Given the description of an element on the screen output the (x, y) to click on. 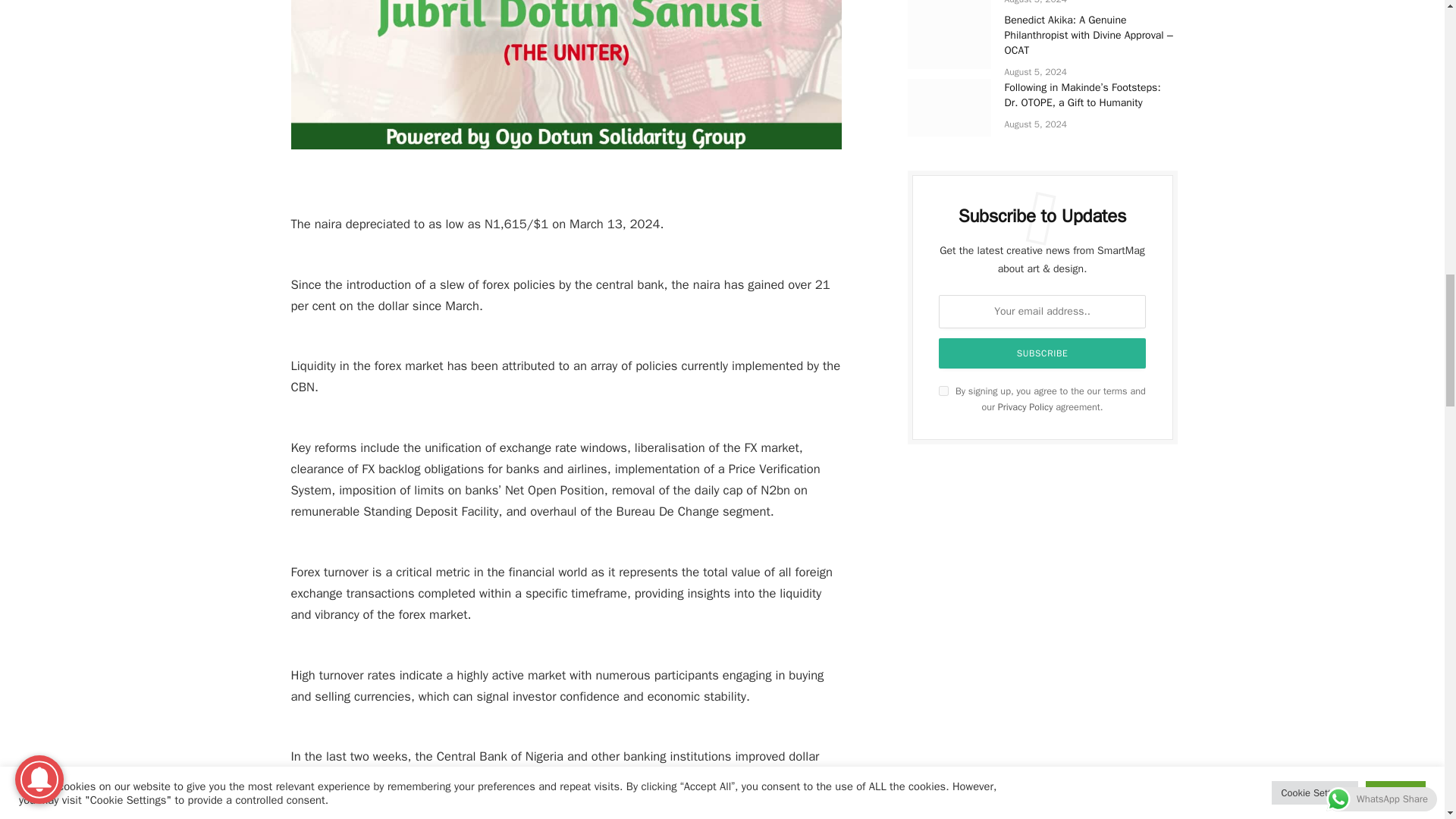
on (944, 390)
Subscribe (1043, 353)
